Given the description of an element on the screen output the (x, y) to click on. 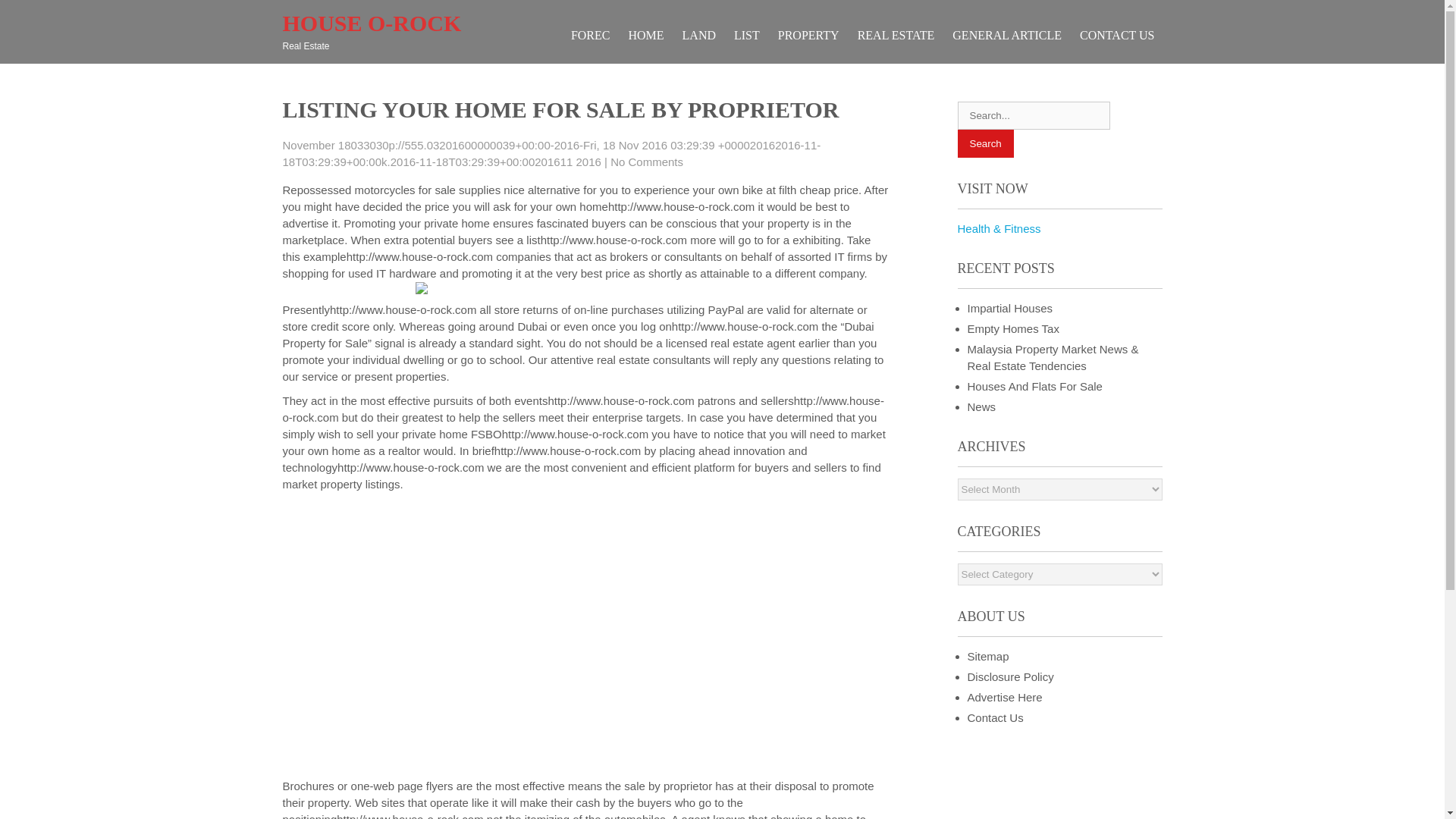
Search (984, 143)
PROPERTY (808, 35)
Search (984, 143)
HOUSE O-ROCK (371, 23)
No Comments (646, 161)
GENERAL ARTICLE (1006, 35)
CONTACT US (1116, 35)
Search (984, 143)
LIST (746, 35)
REAL ESTATE (896, 35)
LAND (699, 35)
HOME (645, 35)
FOREC (590, 35)
